Given the description of an element on the screen output the (x, y) to click on. 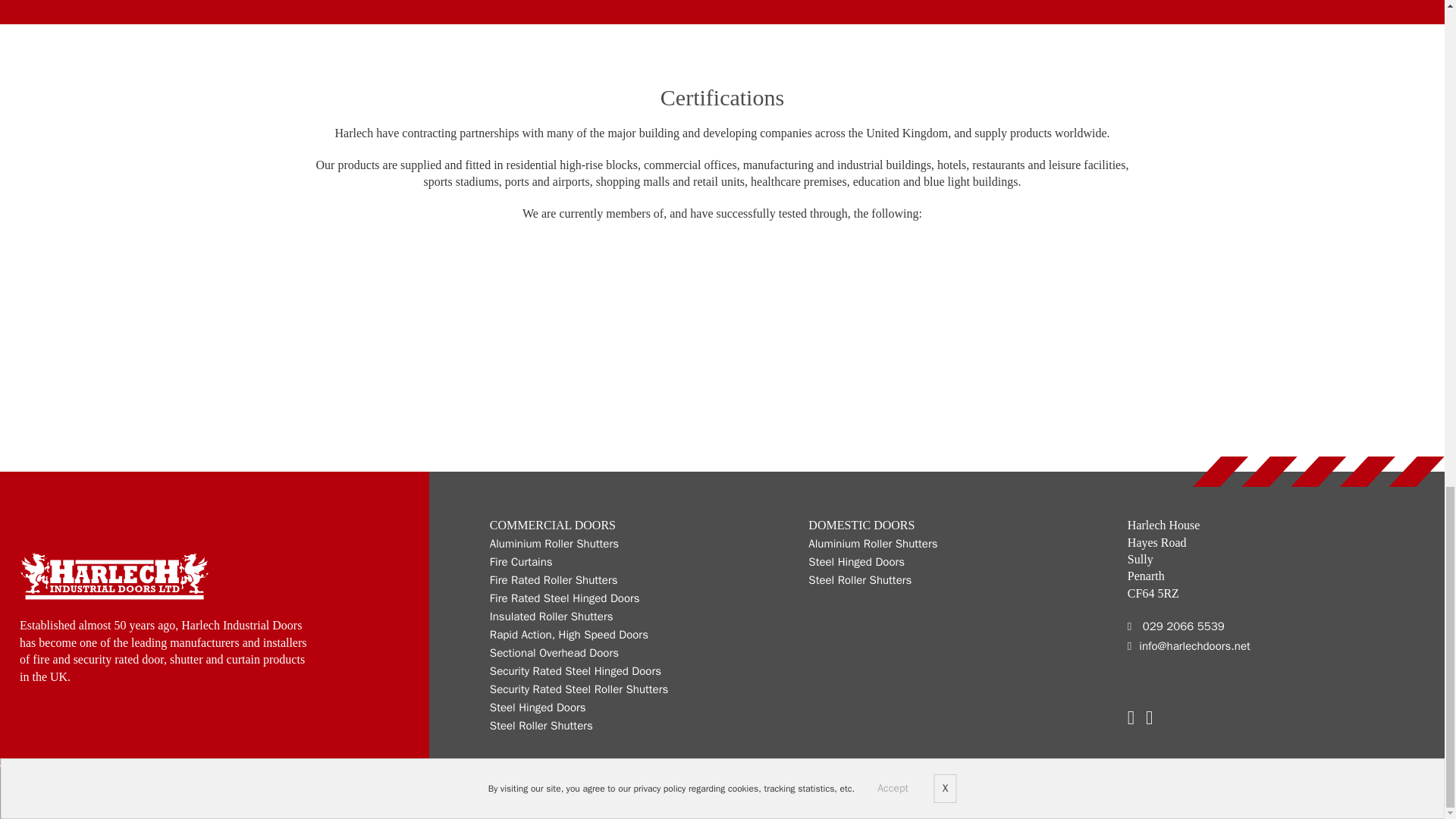
Call Now (1188, 627)
Email Us (1188, 646)
